Given the description of an element on the screen output the (x, y) to click on. 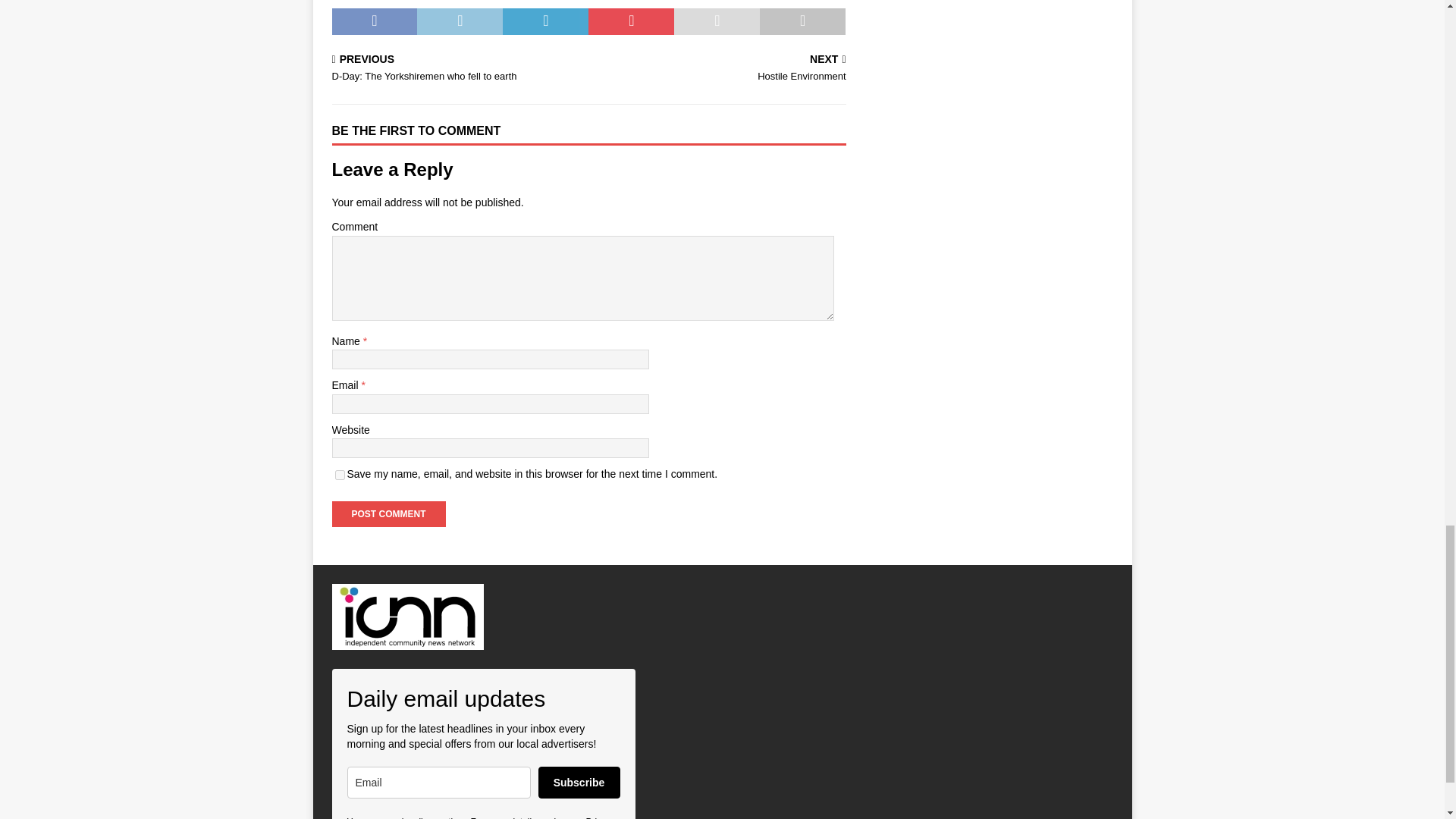
Post Comment (388, 514)
yes (339, 474)
